Given the description of an element on the screen output the (x, y) to click on. 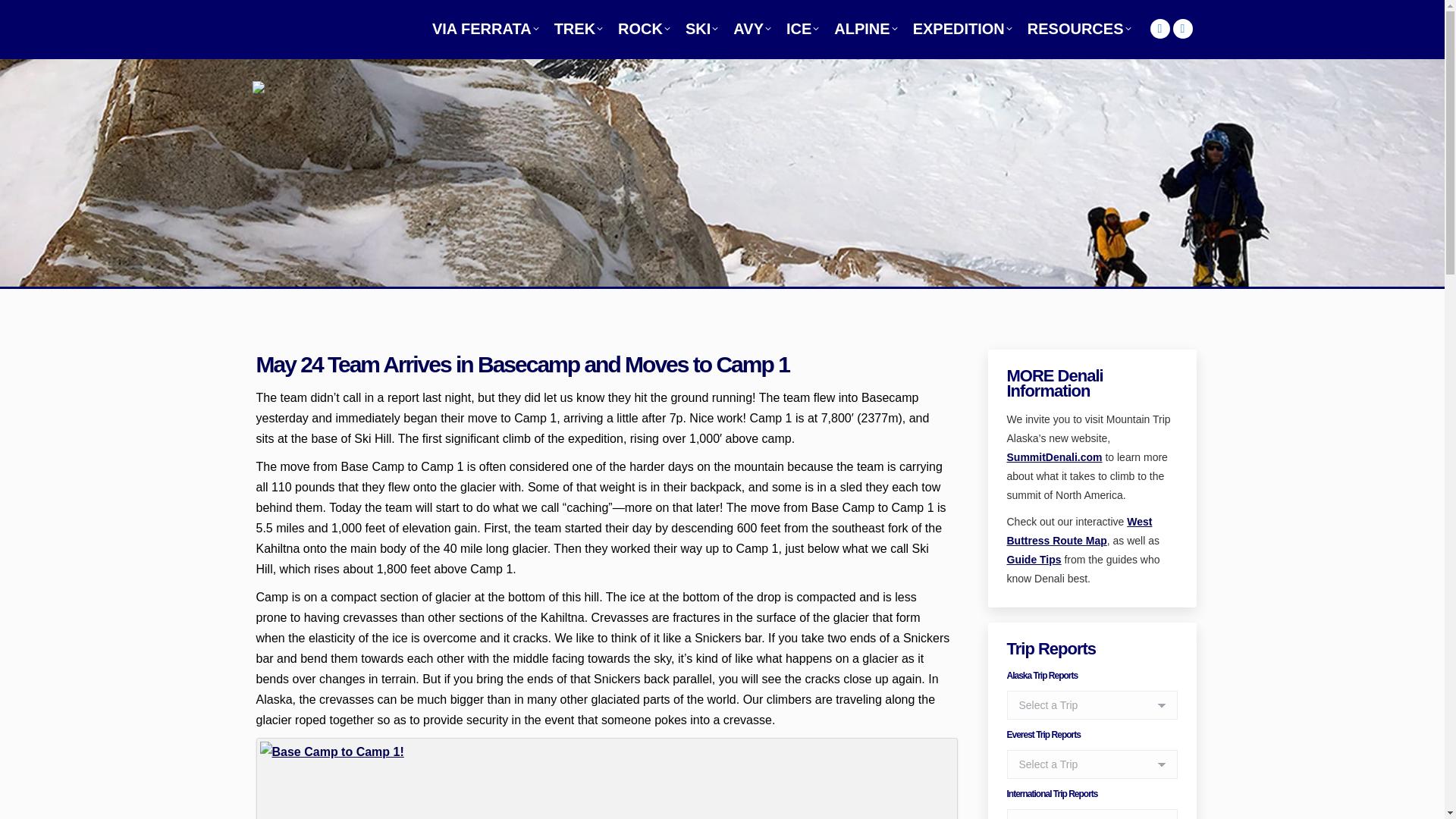
ICE (802, 27)
ALPINE (865, 27)
Instagram page opens in new window (1159, 28)
TREK (578, 27)
Facebook page opens in new window (1182, 28)
VIA FERRATA (485, 27)
SKI (701, 27)
ROCK (644, 27)
AVY (751, 27)
